Given the description of an element on the screen output the (x, y) to click on. 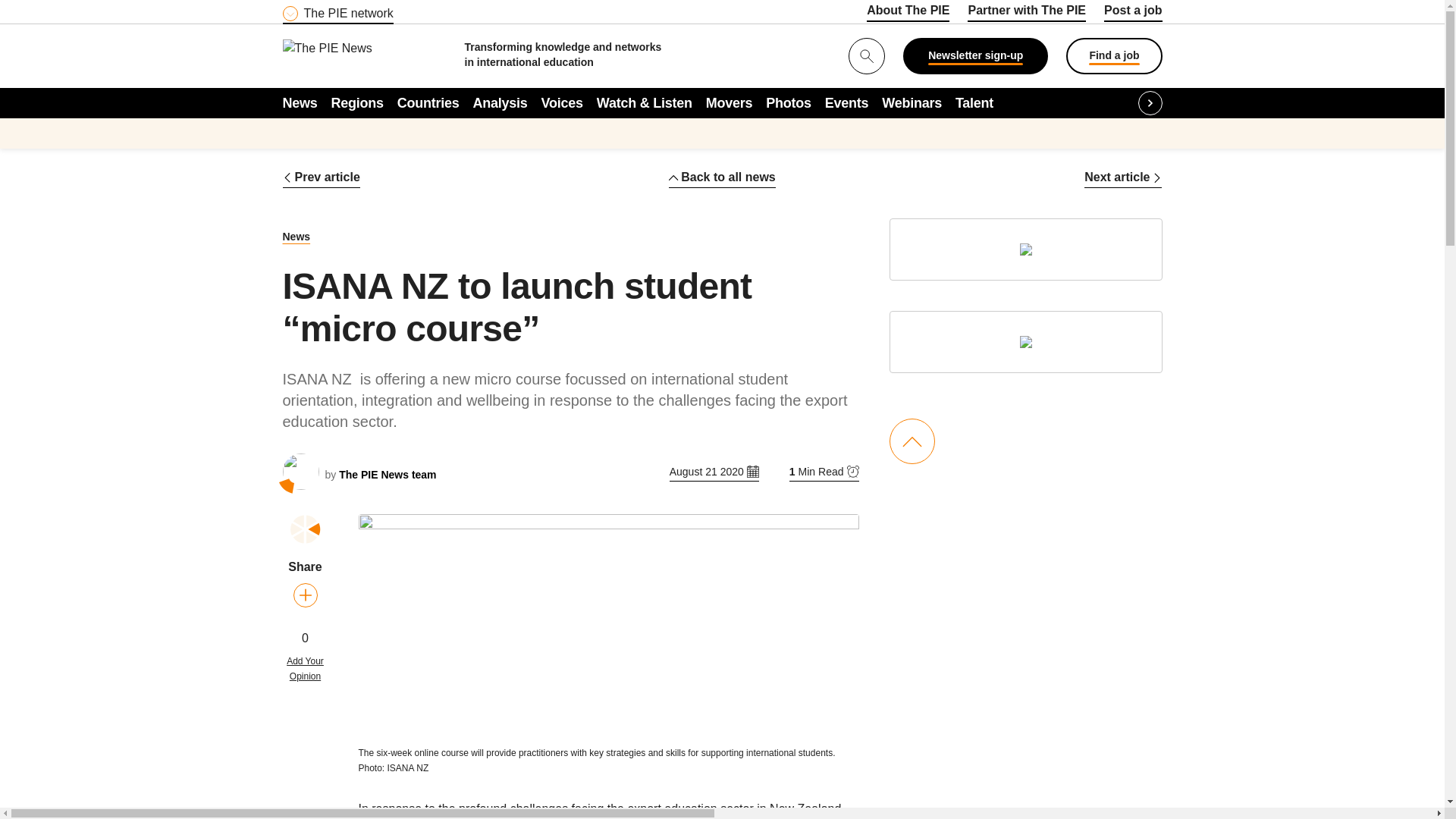
Newsletter sign-up (975, 55)
About The PIE (907, 13)
Post a job (1132, 13)
Content (373, 9)
Regions (357, 102)
News (299, 102)
Countries (428, 102)
Find a job (1113, 55)
Partner with The PIE (1027, 13)
